Given the description of an element on the screen output the (x, y) to click on. 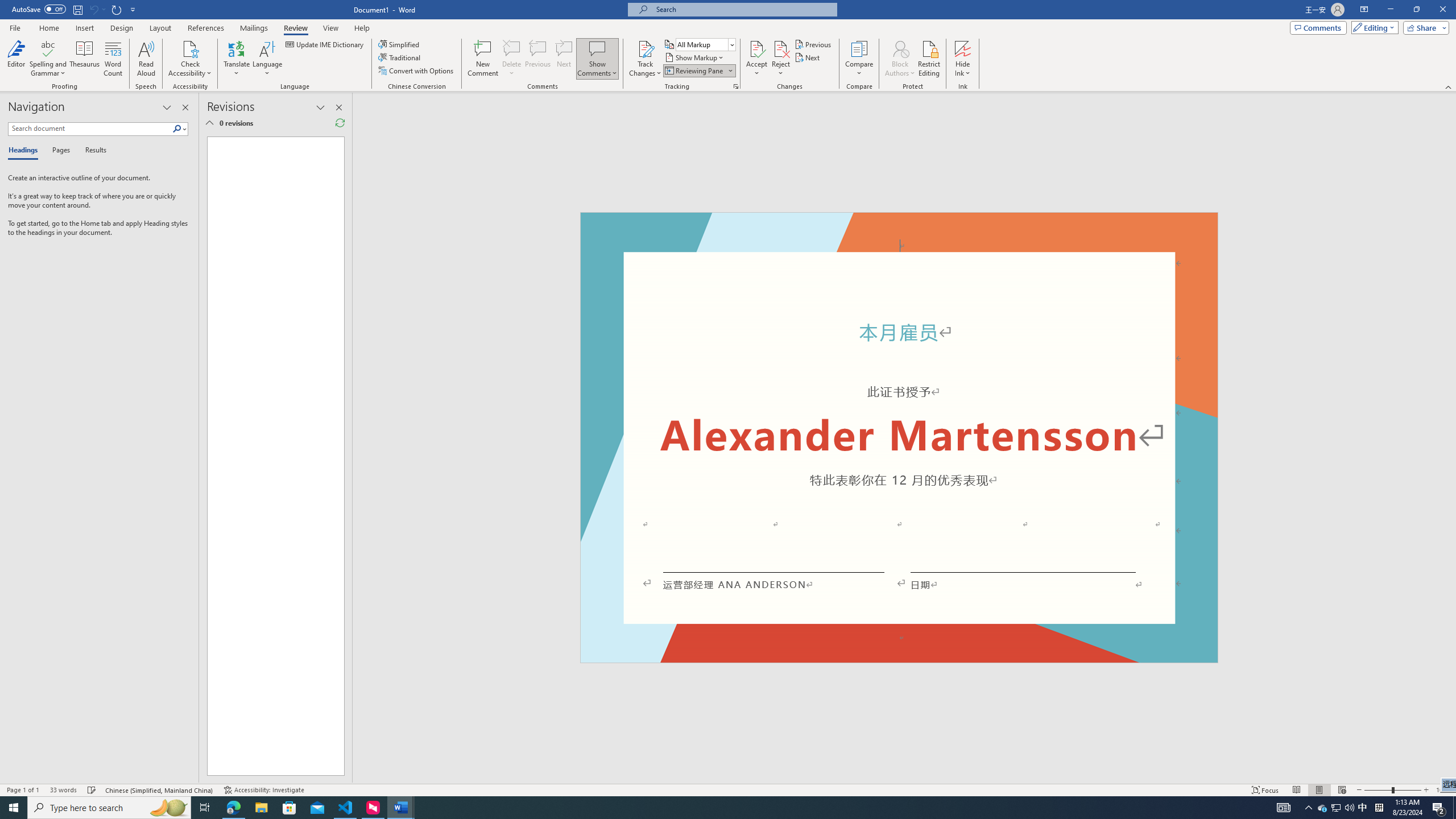
Can't Undo (92, 9)
Accept (756, 58)
Hide Ink (962, 48)
New Comment (482, 58)
Show Comments (597, 48)
Delete (511, 48)
Reject and Move to Next (780, 48)
